Given the description of an element on the screen output the (x, y) to click on. 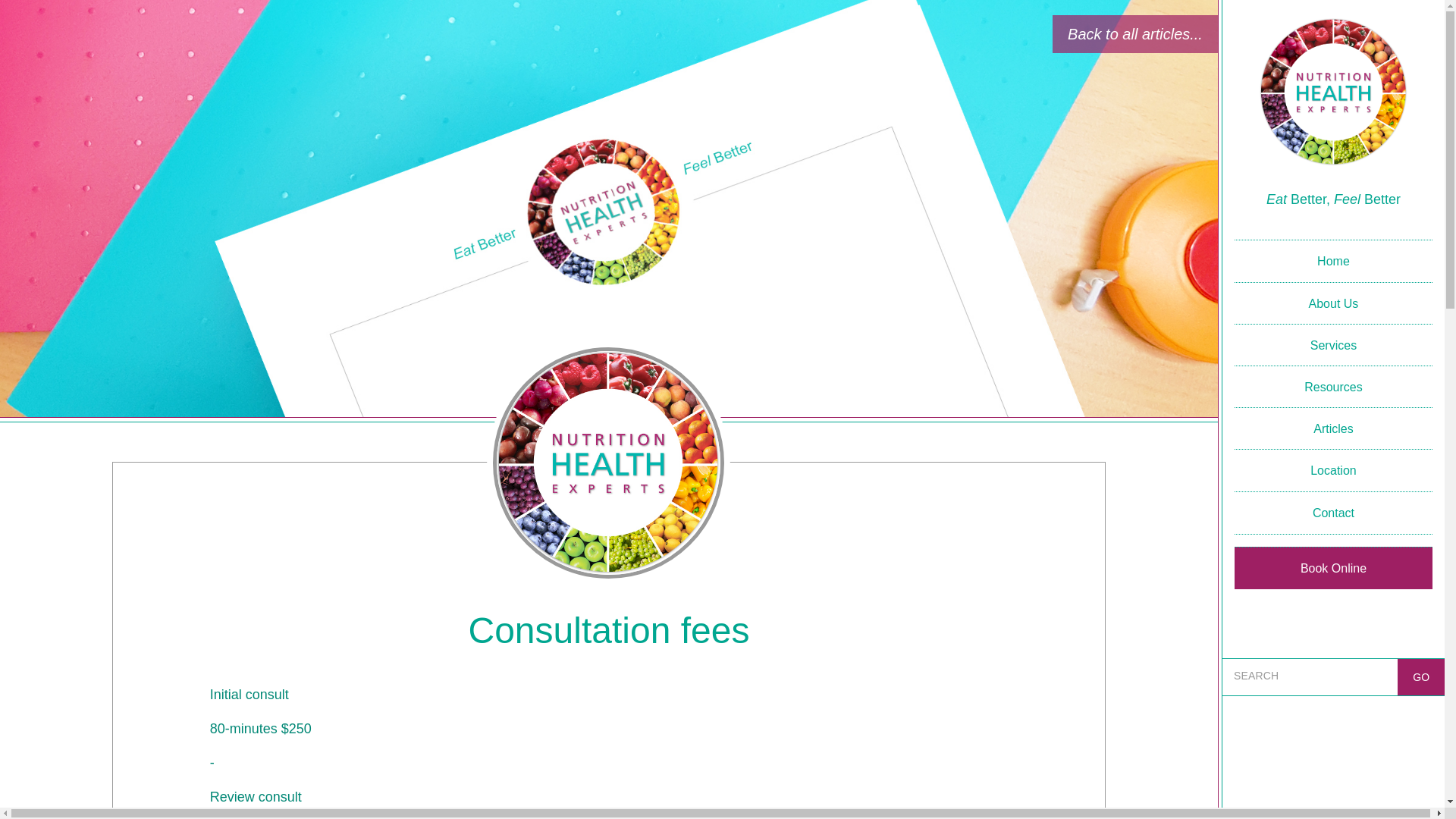
Location (1333, 470)
Book Online (1333, 567)
Nutrition Health Experts Home (1333, 94)
Articles (1333, 428)
About Us (1333, 303)
Services (1333, 345)
Home (1333, 260)
Make Online Booking (1333, 567)
Resources (1333, 386)
Contact (1333, 512)
Go to Articles (1134, 34)
GO (1420, 677)
Back to all articles... (1134, 34)
